Given the description of an element on the screen output the (x, y) to click on. 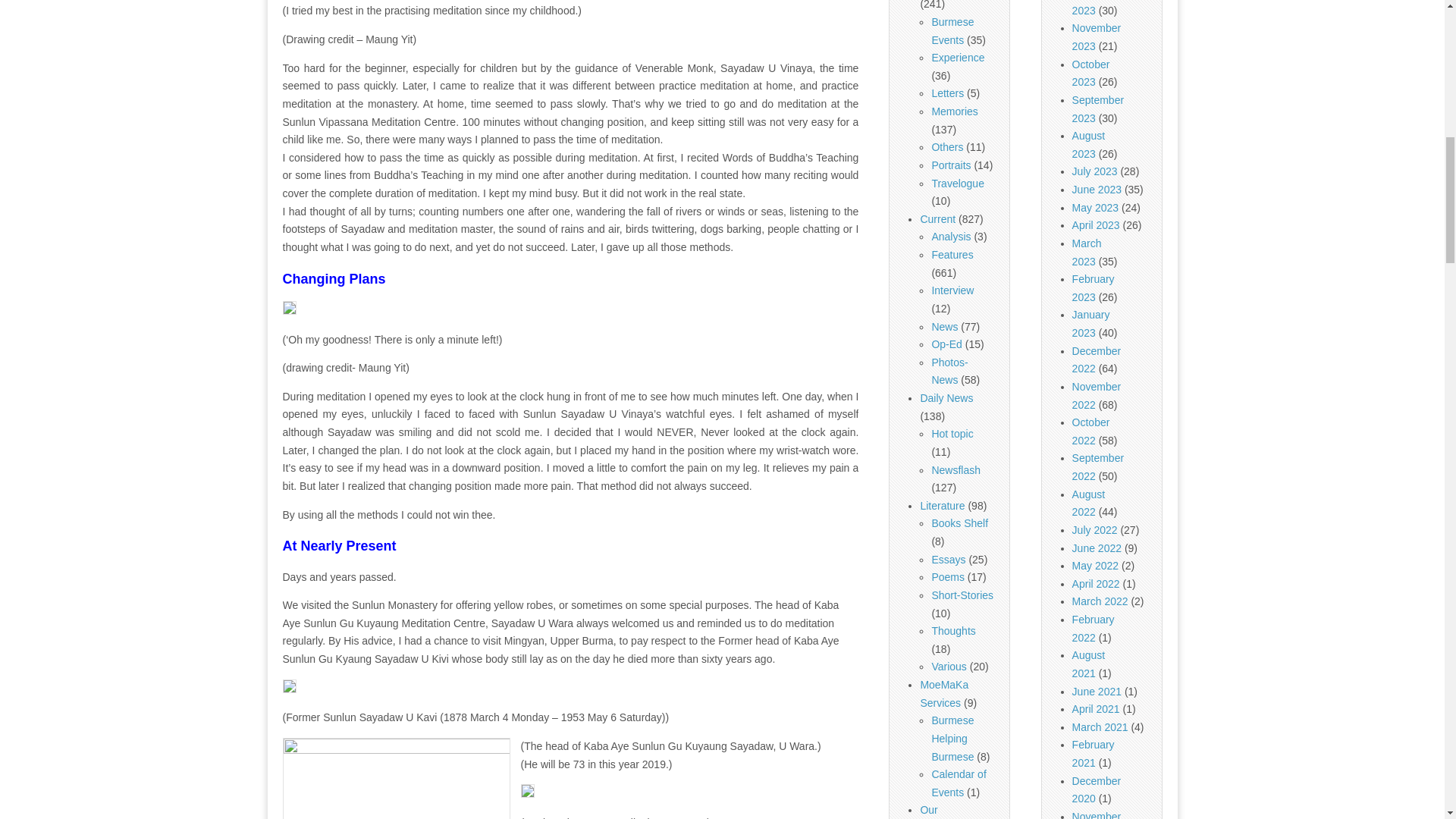
Letters from the readers and contributors (947, 92)
General Articles on Burmese community (946, 146)
Portraits of People from their friends and families  (951, 164)
The Life and struggle of Burmese in overseas (952, 30)
Articles on reflection of the past and things to remember  (953, 111)
